Given the description of an element on the screen output the (x, y) to click on. 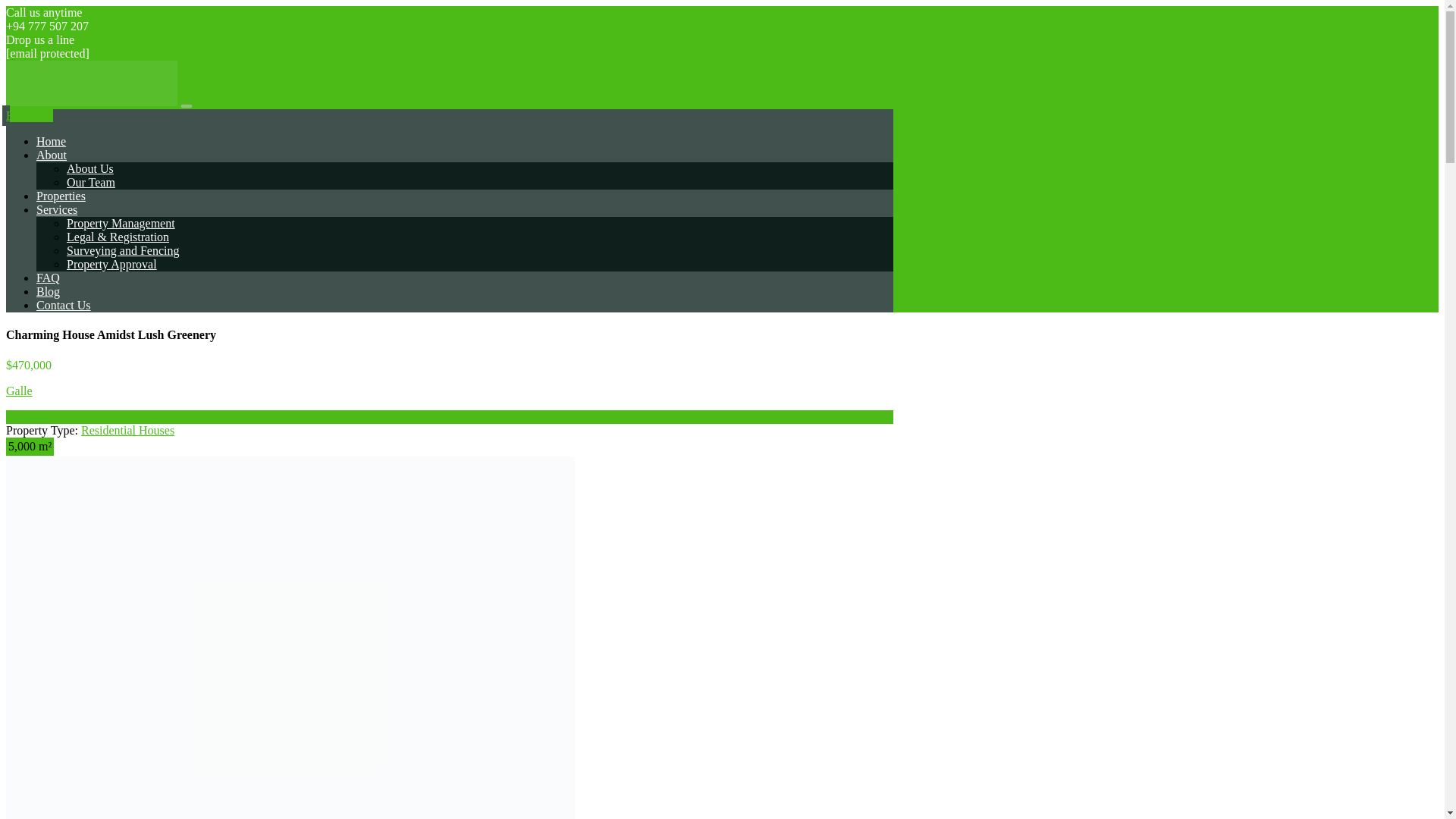
Home (50, 141)
Services (56, 209)
Residential Houses (127, 430)
For Sale (25, 416)
Galle (18, 390)
Reach Us (28, 115)
Contact Us (63, 305)
About Us (89, 168)
Our Team (90, 182)
Blog (47, 291)
Property Approval (111, 264)
Properties (60, 195)
Surveying and Fencing (122, 250)
FAQ (47, 277)
About (51, 154)
